Given the description of an element on the screen output the (x, y) to click on. 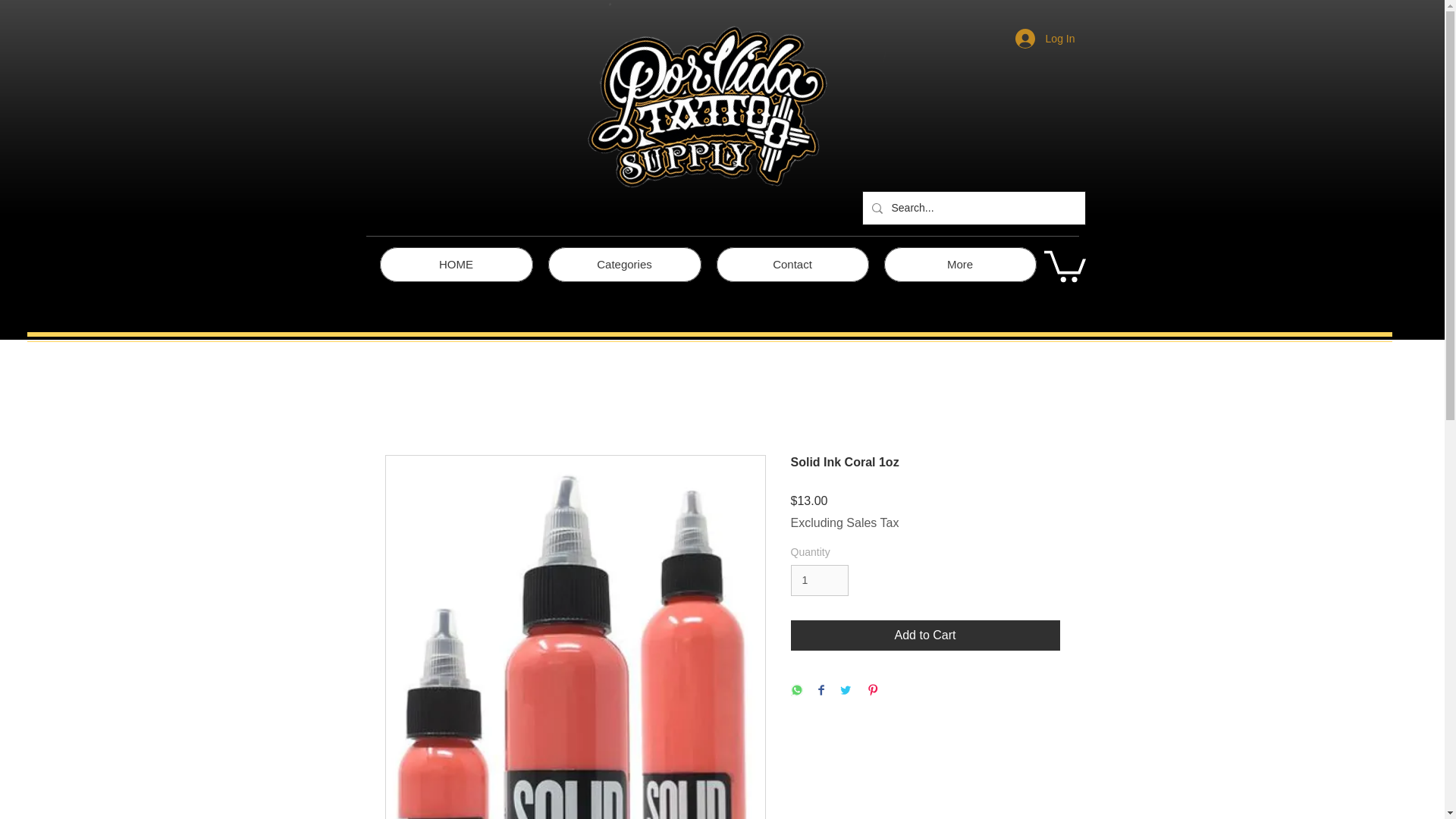
1 (818, 580)
Contact (791, 264)
HOME (455, 264)
Categories (623, 264)
Log In (1045, 38)
